Given the description of an element on the screen output the (x, y) to click on. 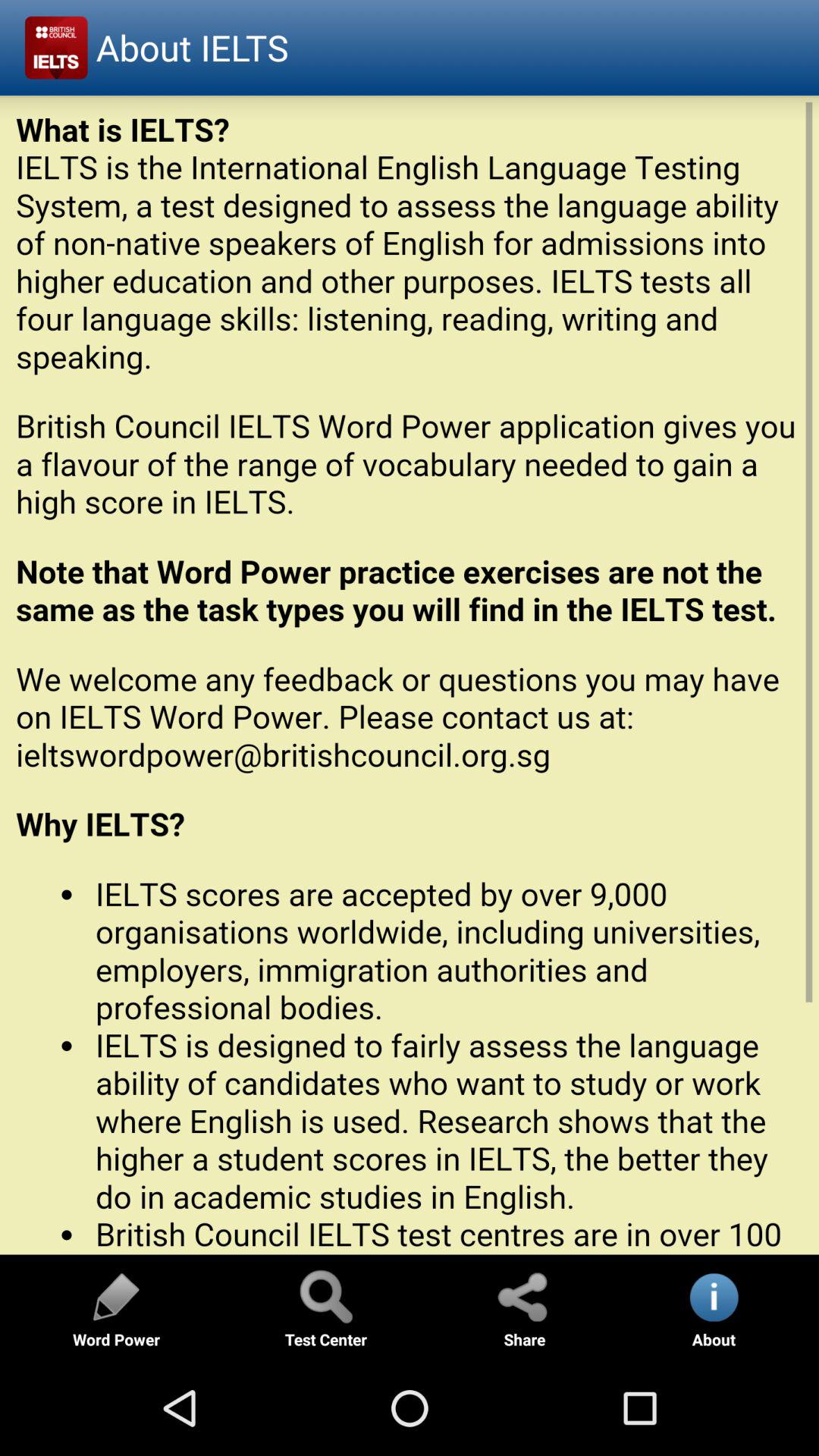
search for help (325, 1296)
